Given the description of an element on the screen output the (x, y) to click on. 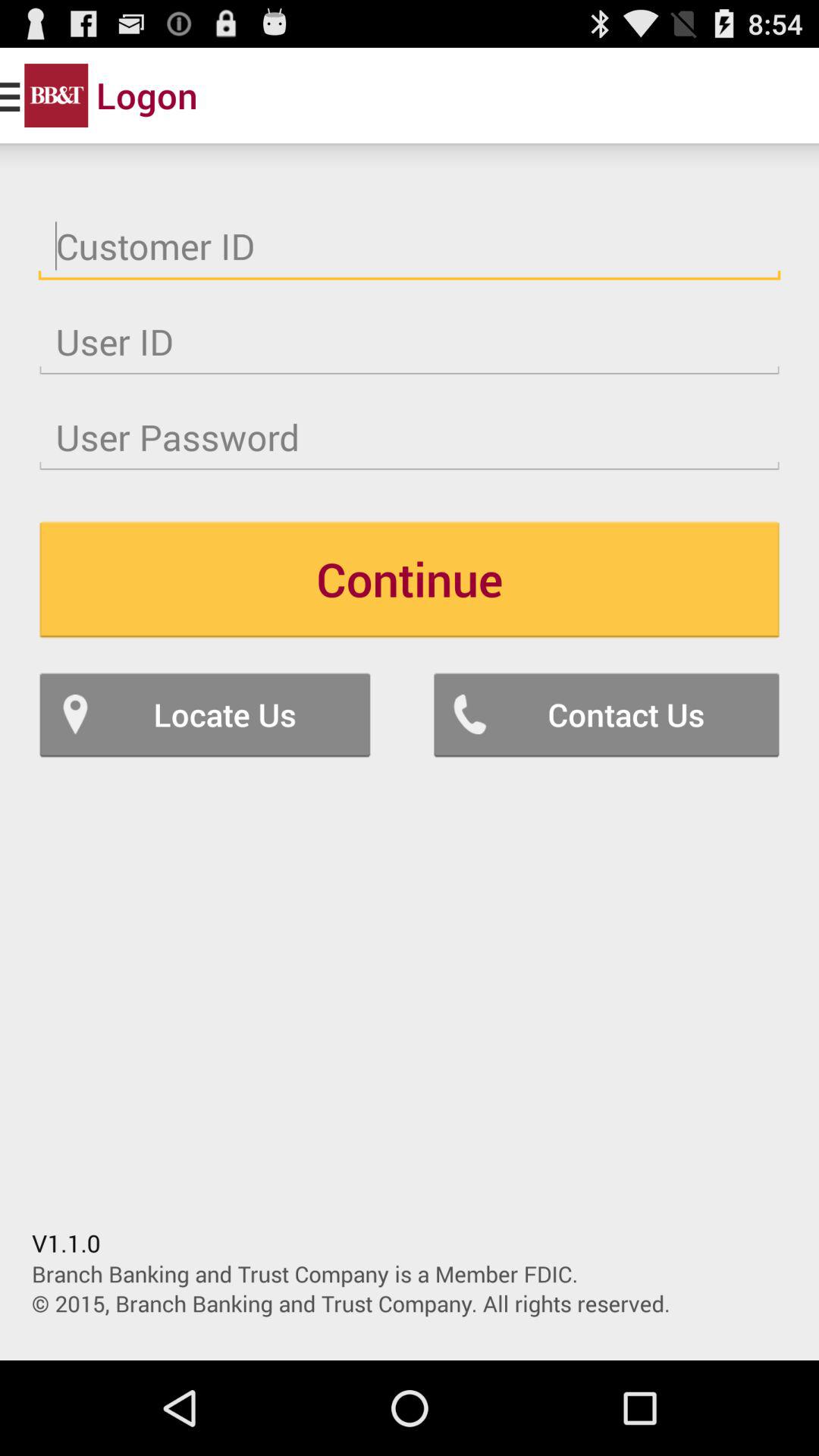
jump until contact us (606, 714)
